Given the description of an element on the screen output the (x, y) to click on. 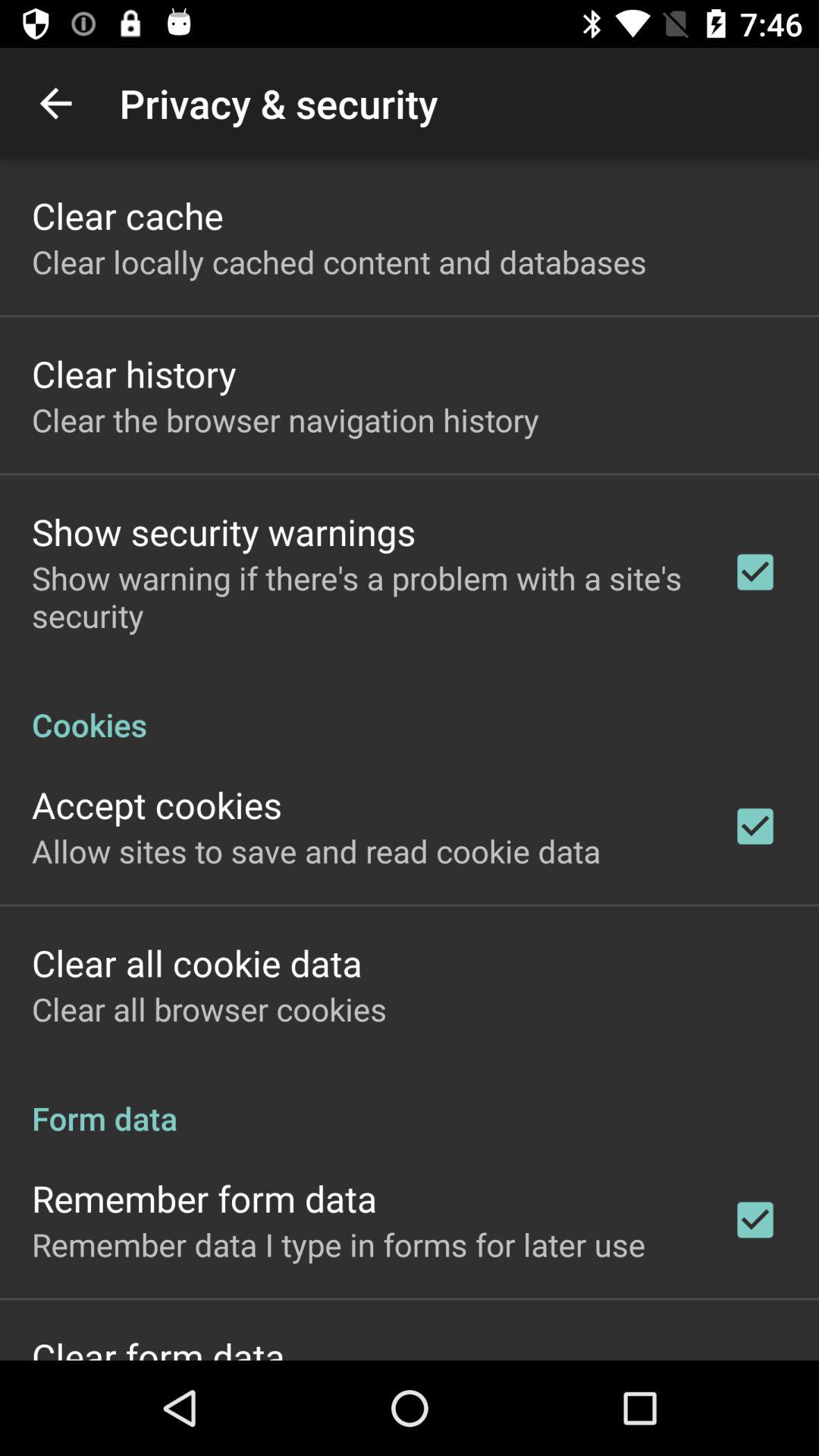
turn on the app above the cookies icon (361, 596)
